Given the description of an element on the screen output the (x, y) to click on. 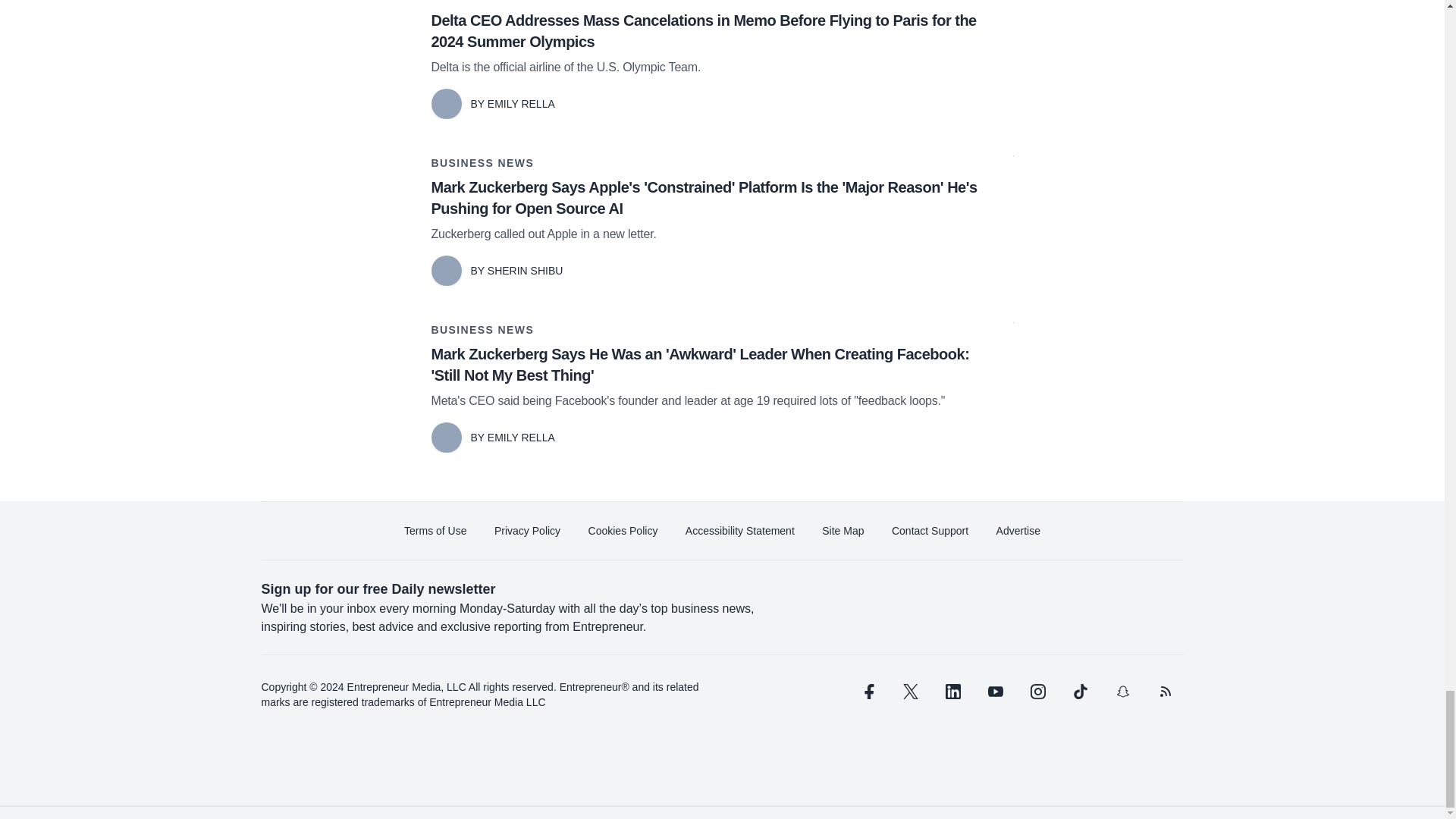
tiktok (1079, 691)
instagram (1037, 691)
facebook (866, 691)
twitter (909, 691)
linkedin (952, 691)
youtube (994, 691)
snapchat (1121, 691)
